Given the description of an element on the screen output the (x, y) to click on. 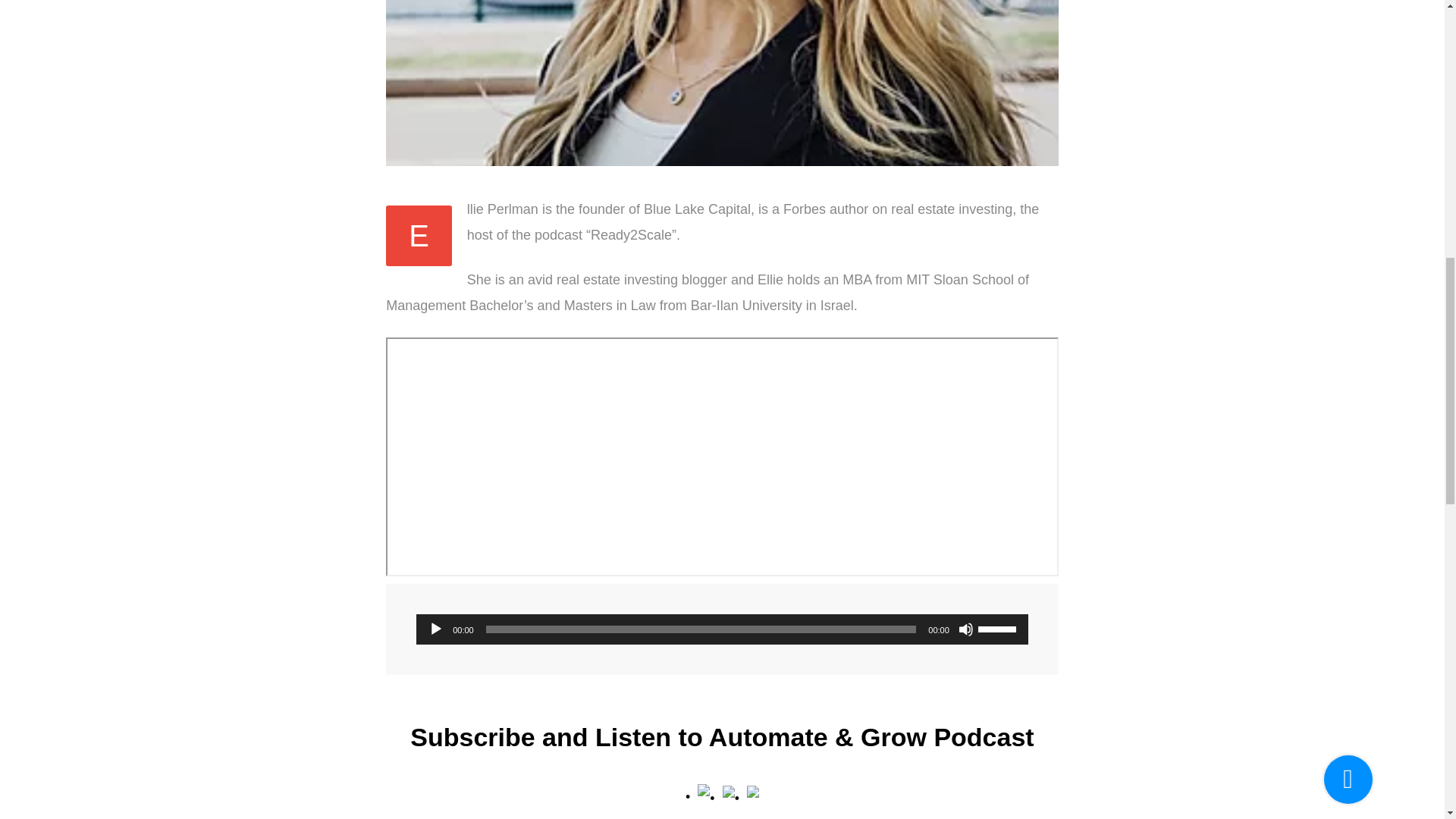
Play (436, 629)
Mute (966, 629)
